Given the description of an element on the screen output the (x, y) to click on. 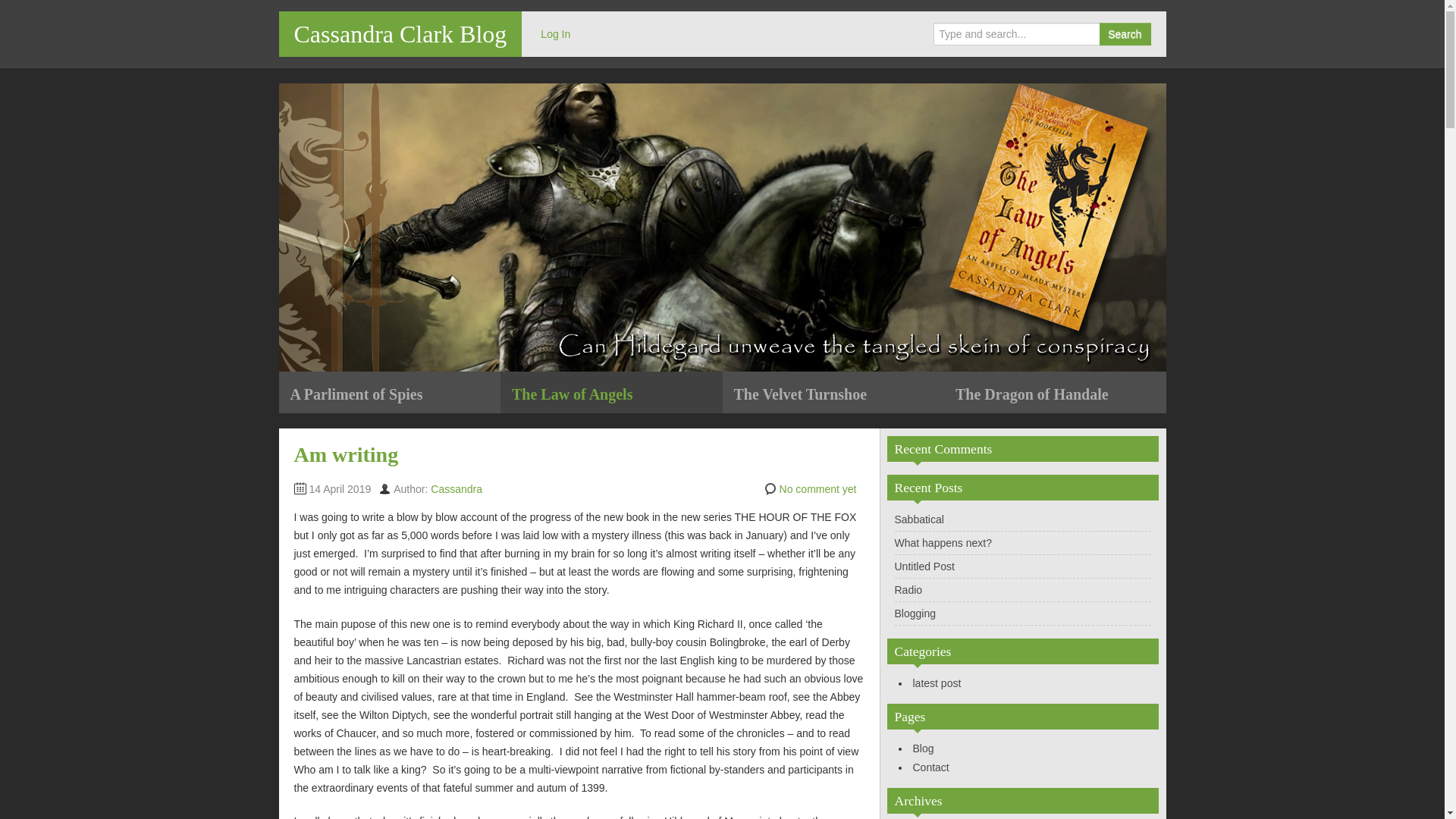
Cassandra (455, 489)
Am writing (346, 454)
Log In (554, 33)
Cassandra Clark Blog (400, 33)
No comment yet (817, 489)
Cassandra Clark Blog (400, 33)
Search (1124, 33)
Am writing (346, 454)
